Given the description of an element on the screen output the (x, y) to click on. 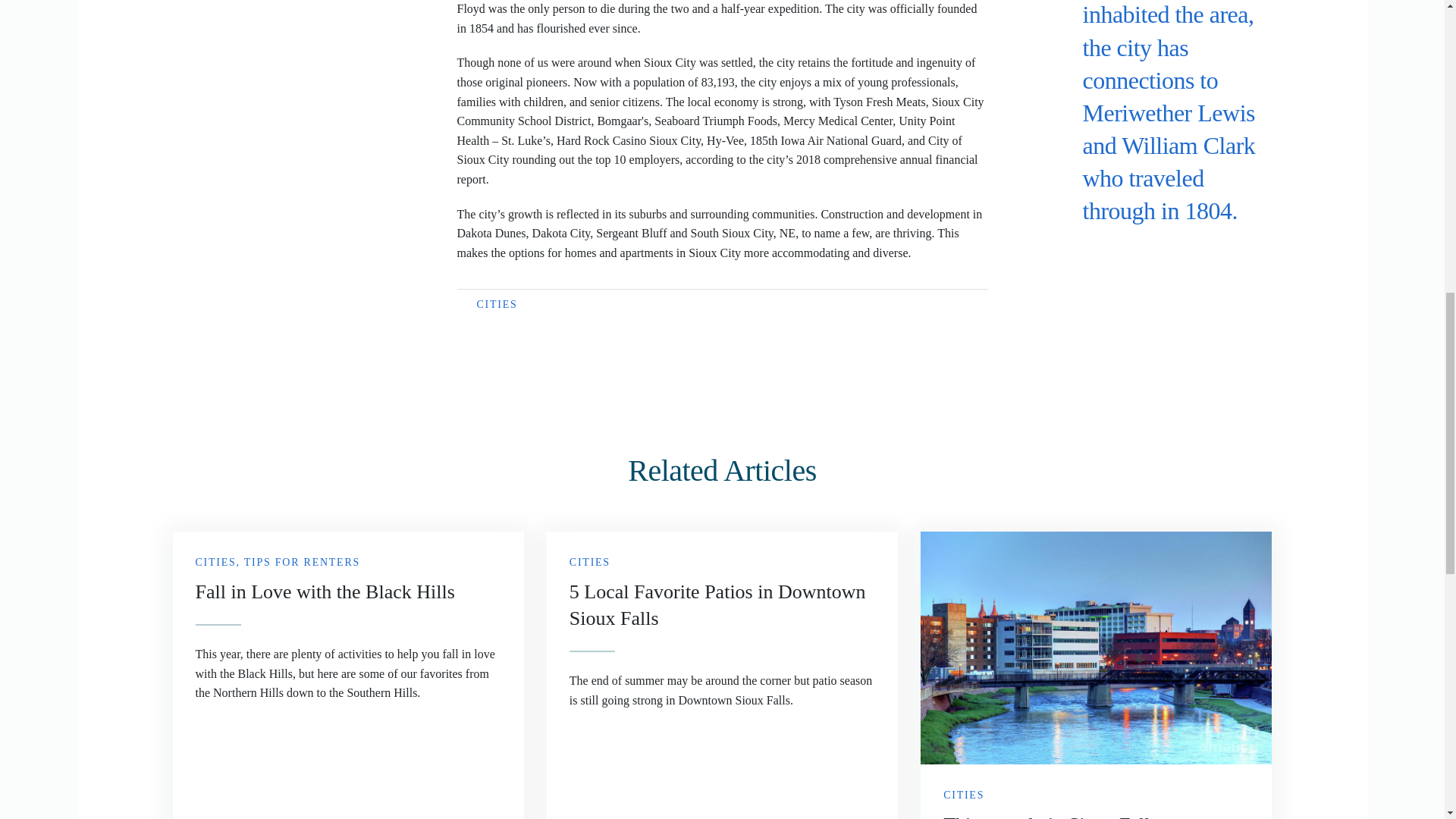
Fall in Love with the Black Hills (348, 675)
5 Local Favorite Patios in Downtown Sioux Falls (722, 675)
CITIES (496, 304)
Share via Email (1142, 246)
Things to do in Sioux Falls (1095, 675)
Share On Twitter (1116, 246)
Share On Facebook (1090, 246)
